Given the description of an element on the screen output the (x, y) to click on. 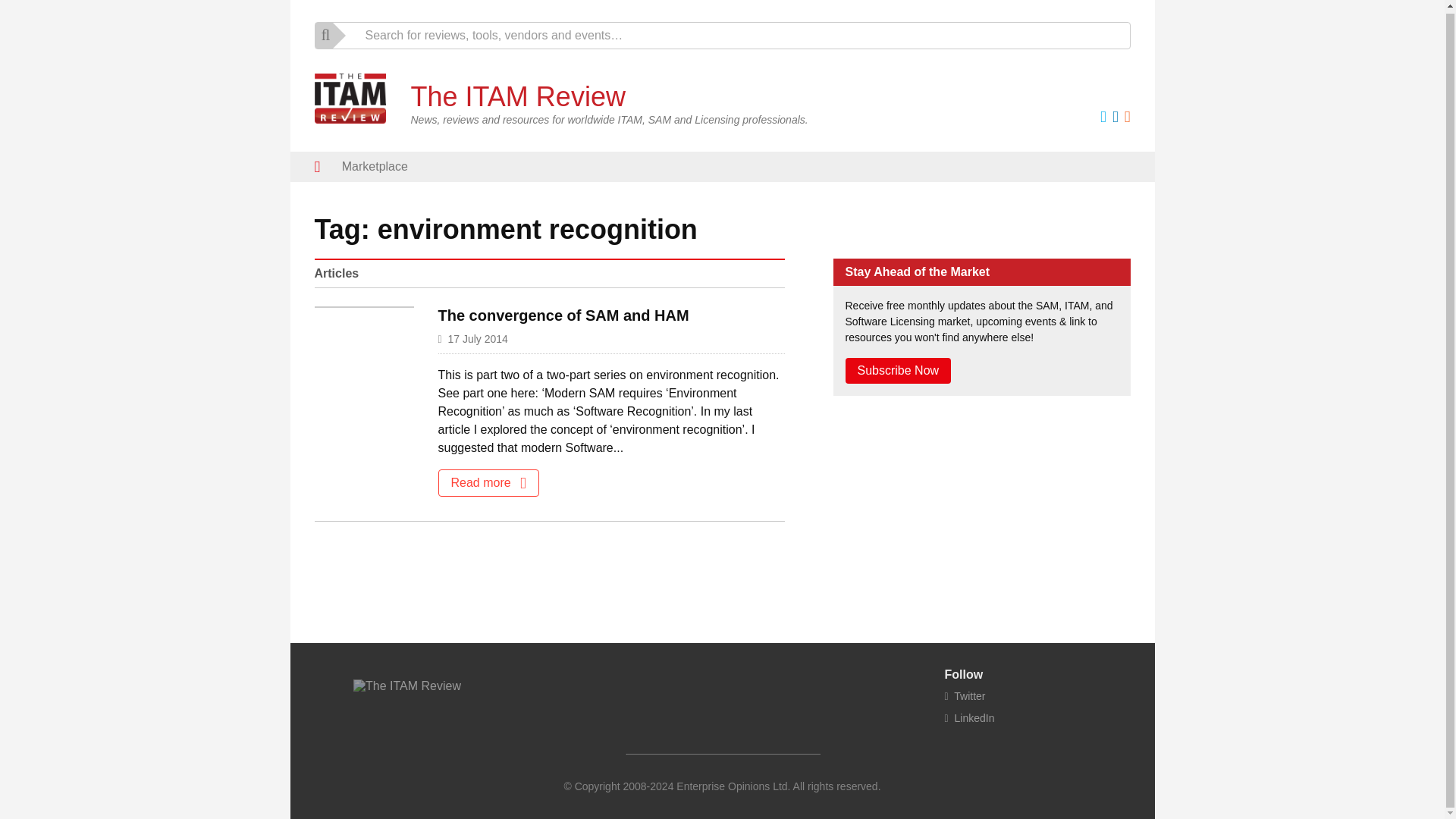
Twitter (964, 695)
The convergence of SAM and HAM (563, 315)
The convergence of SAM and HAM (563, 315)
Subscribe Now (897, 370)
Marketplace (375, 166)
Read more (488, 482)
LinkedIn (969, 717)
